Given the description of an element on the screen output the (x, y) to click on. 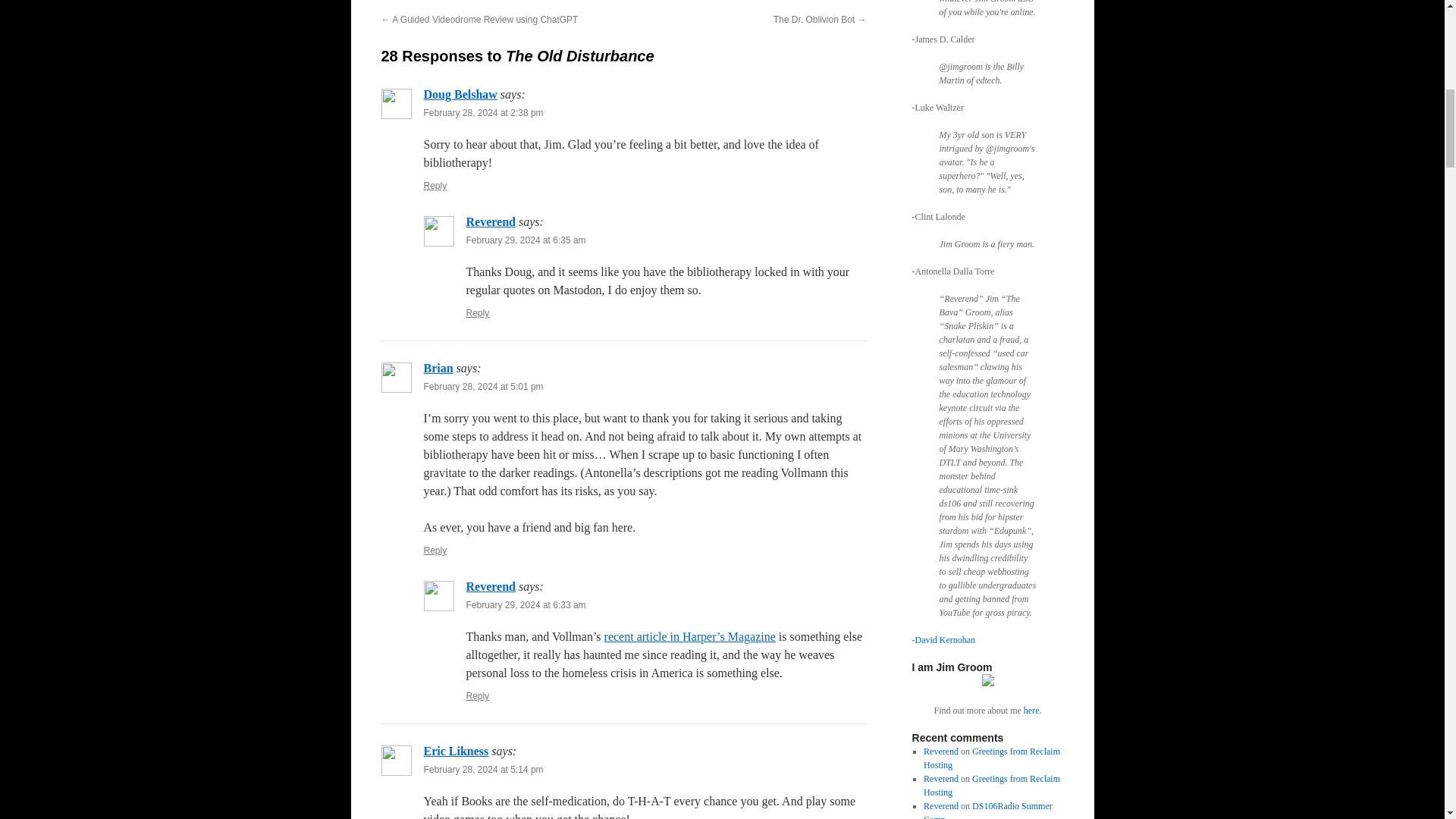
February 29, 2024 at 6:33 am (525, 604)
Reply (477, 696)
Brian (437, 367)
Reply (434, 185)
Reverend (490, 221)
Reply (477, 312)
February 29, 2024 at 6:35 am (525, 240)
Eric Likness (455, 750)
Reply (434, 550)
February 28, 2024 at 2:38 pm (483, 112)
